Given the description of an element on the screen output the (x, y) to click on. 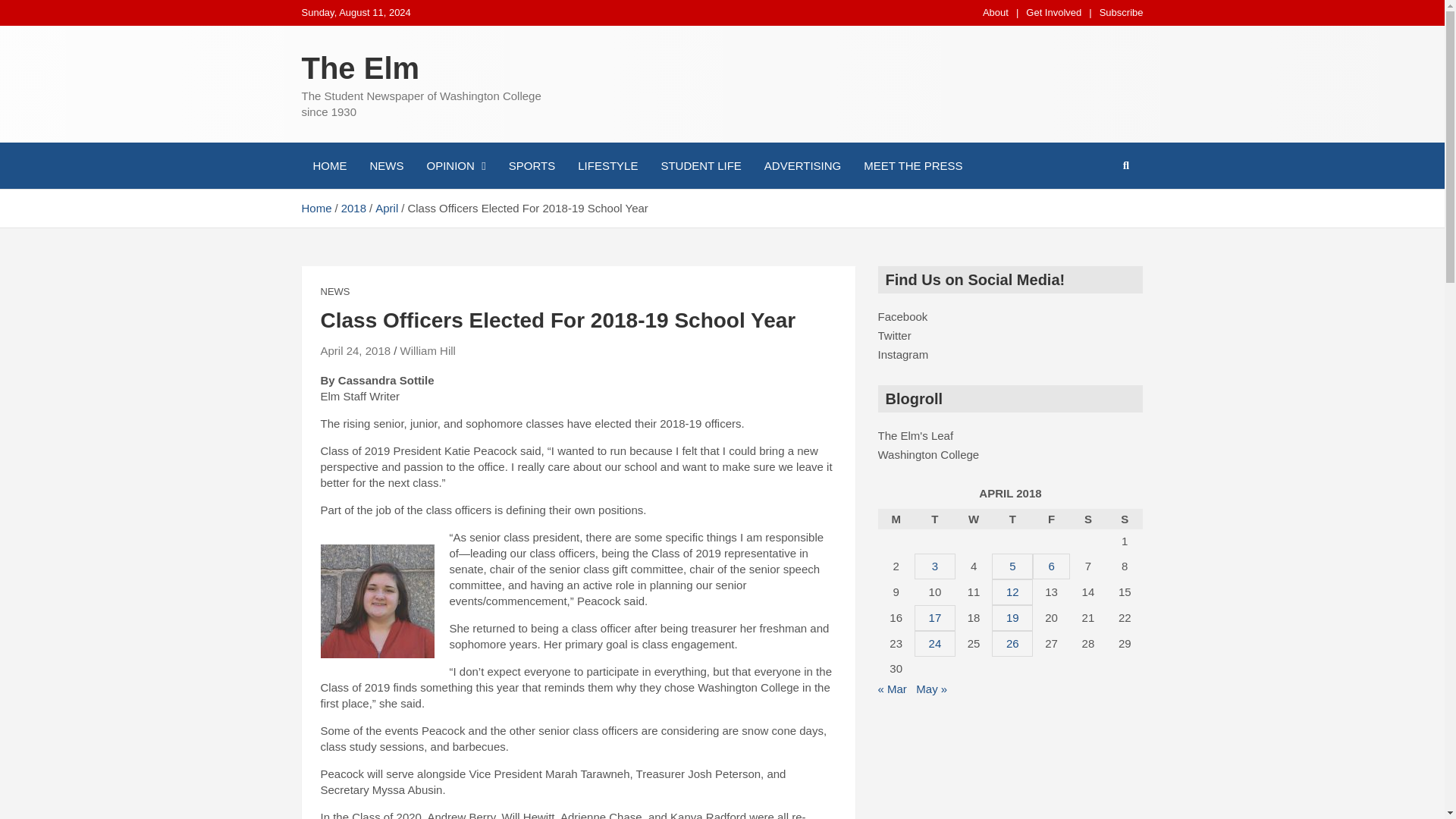
The Washington College home page. (928, 454)
2018 (353, 207)
Instagram (902, 354)
Friday (1050, 518)
OPINION (455, 165)
Facebook (902, 316)
Wednesday (973, 518)
Get Involved (1053, 12)
April 24, 2018 (355, 350)
ADVERTISING (801, 165)
